Given the description of an element on the screen output the (x, y) to click on. 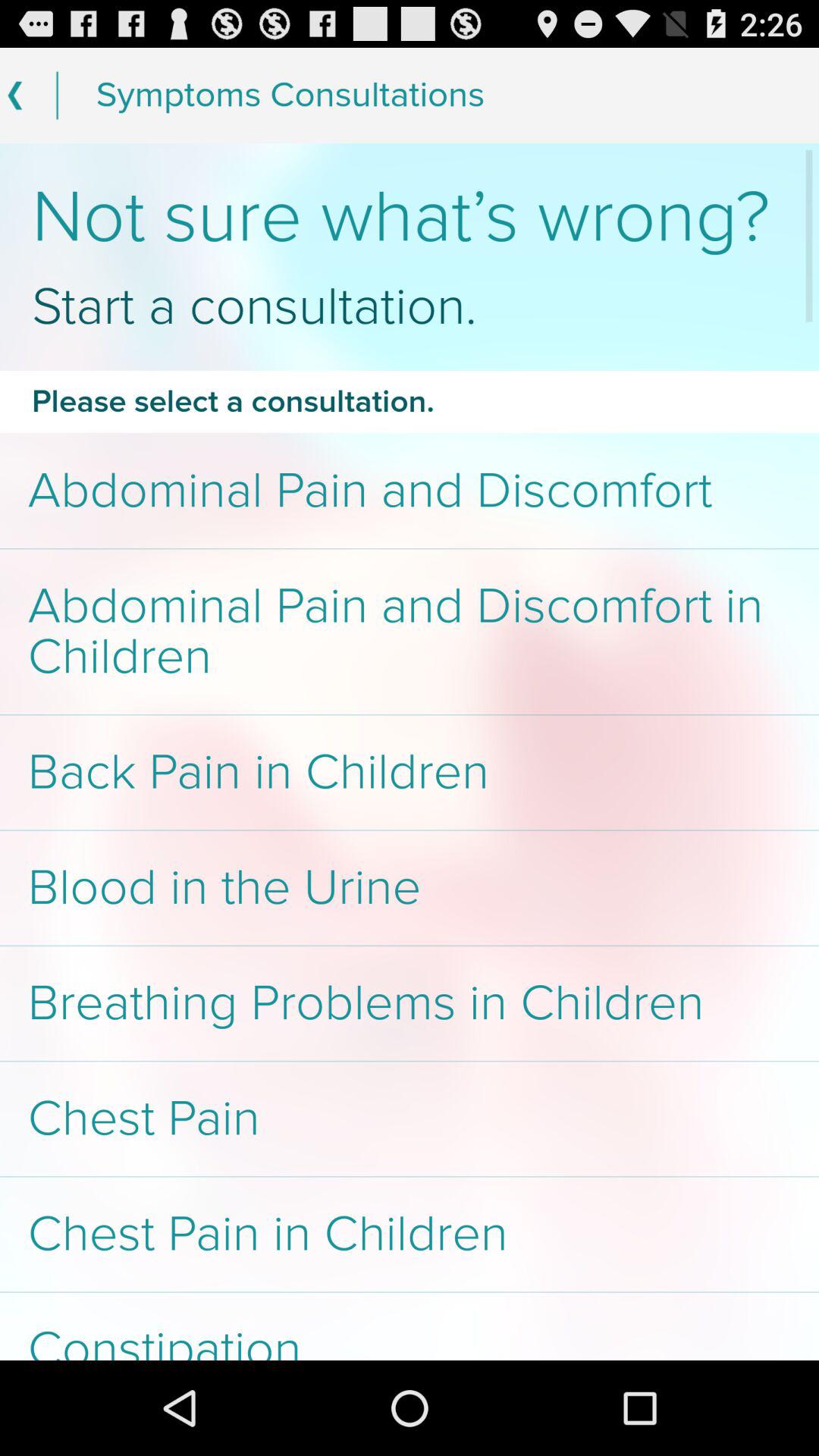
turn off blood in the item (409, 887)
